Given the description of an element on the screen output the (x, y) to click on. 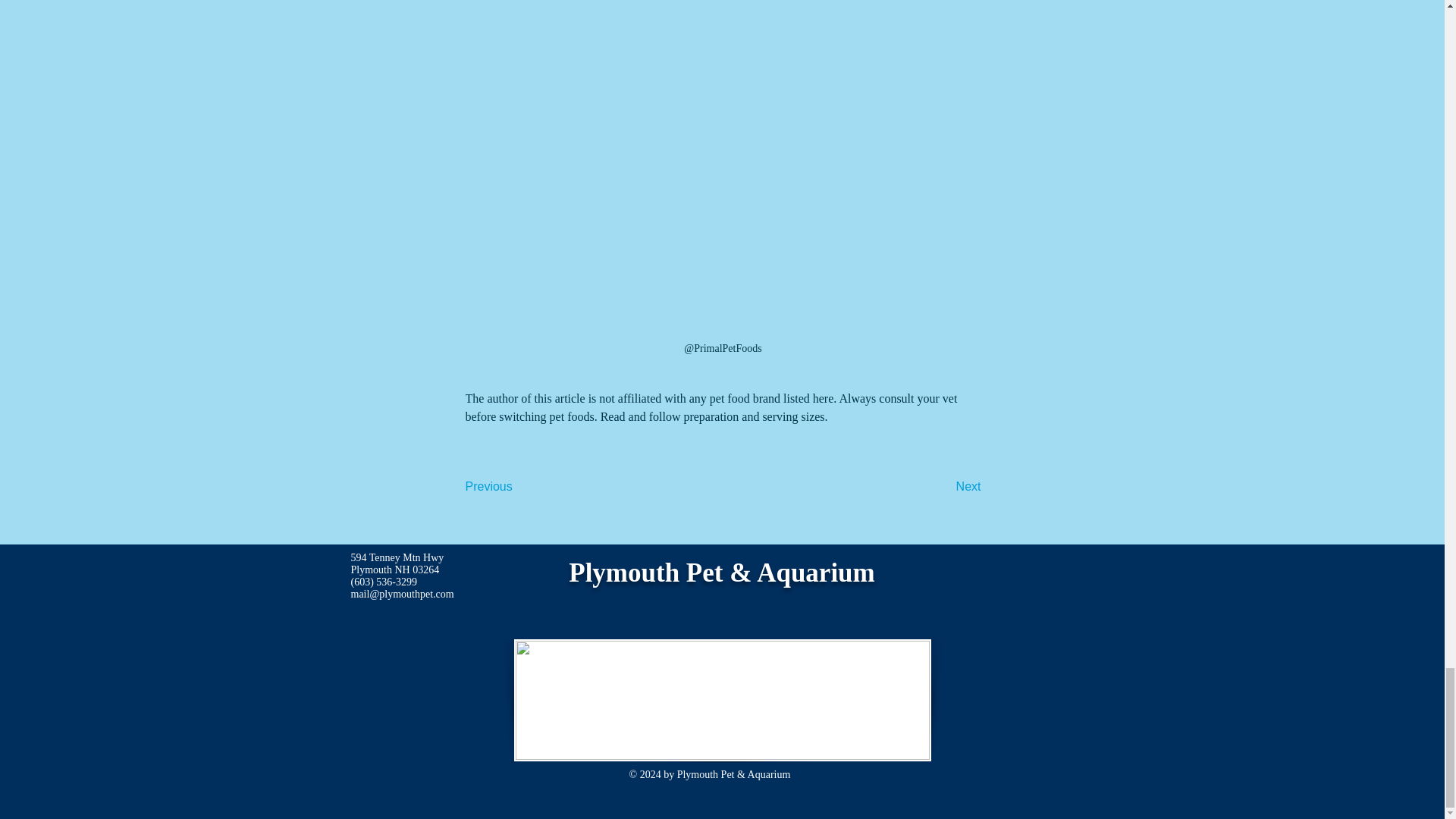
Previous (515, 487)
Next (943, 487)
